Given the description of an element on the screen output the (x, y) to click on. 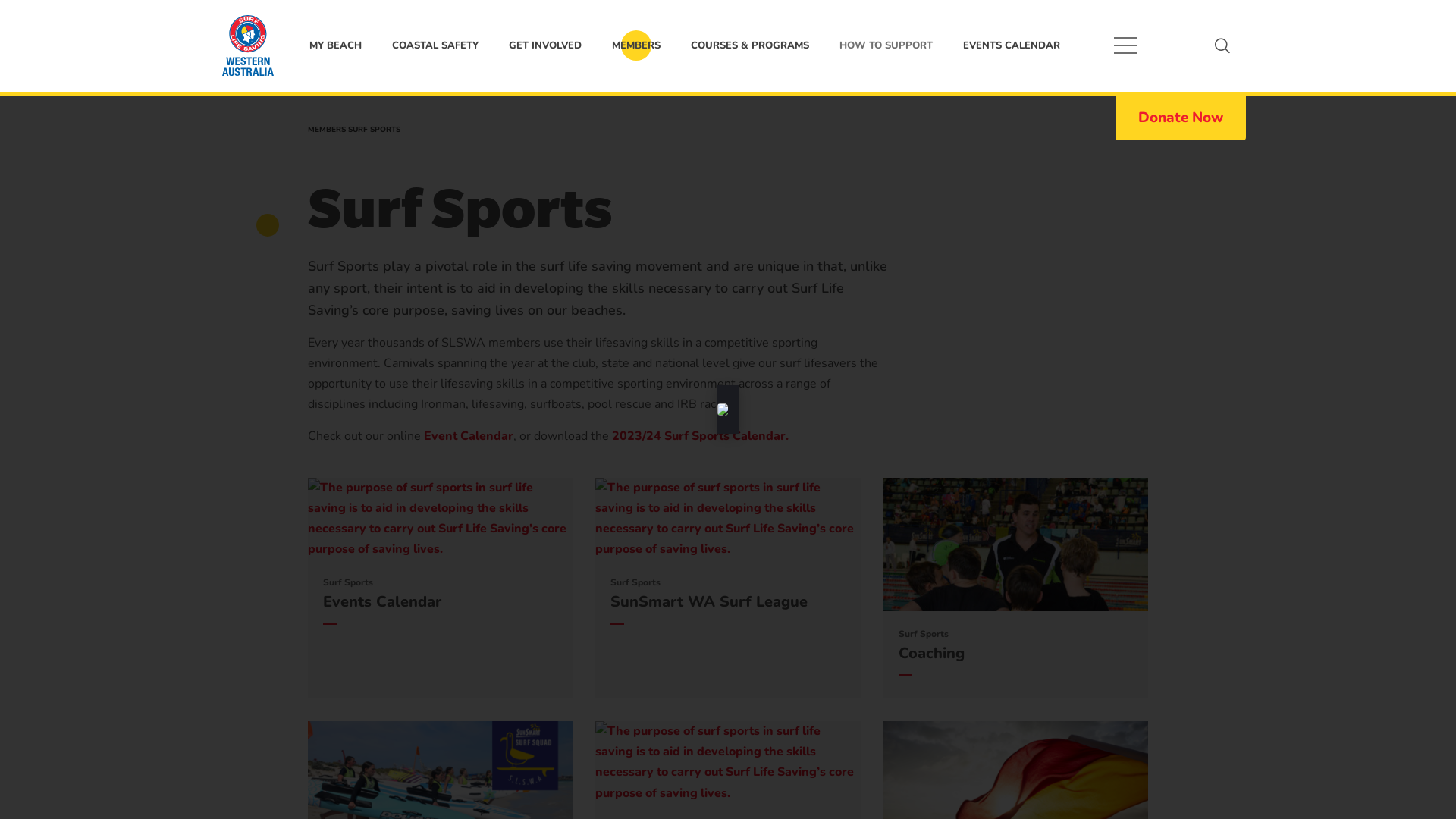
Donate Now Element type: text (1180, 117)
COURSES & PROGRAMS Element type: text (749, 45)
GET INVOLVED Element type: text (544, 45)
OFFICIATING_webcard Element type: hover (727, 762)
HOW TO SUPPORT Element type: text (885, 45)
MY BEACH Element type: text (335, 45)
MEMBERS Element type: text (635, 45)
Coaching Element type: hover (1015, 544)
COASTAL SAFETY Element type: text (434, 45)
My Beach Element type: text (247, 45)
Close Element type: text (1421, 34)
EVENTS CALENDAR Element type: text (1011, 45)
Event Calendar Element type: text (468, 435)
Surf Sports
Coaching Element type: text (1015, 588)
2023/24 Surf Sports Calendar. Element type: text (699, 435)
SurfLeague_Web_Card_1907 Element type: hover (727, 518)
search Element type: hover (1222, 45)
Surf Sports
SunSmart WA Surf League Element type: text (727, 588)
Menu Element type: text (1125, 45)
Surf Sports
Events Calendar Element type: text (439, 588)
EventCal_Web_Card_2212 Element type: hover (439, 518)
